Given the description of an element on the screen output the (x, y) to click on. 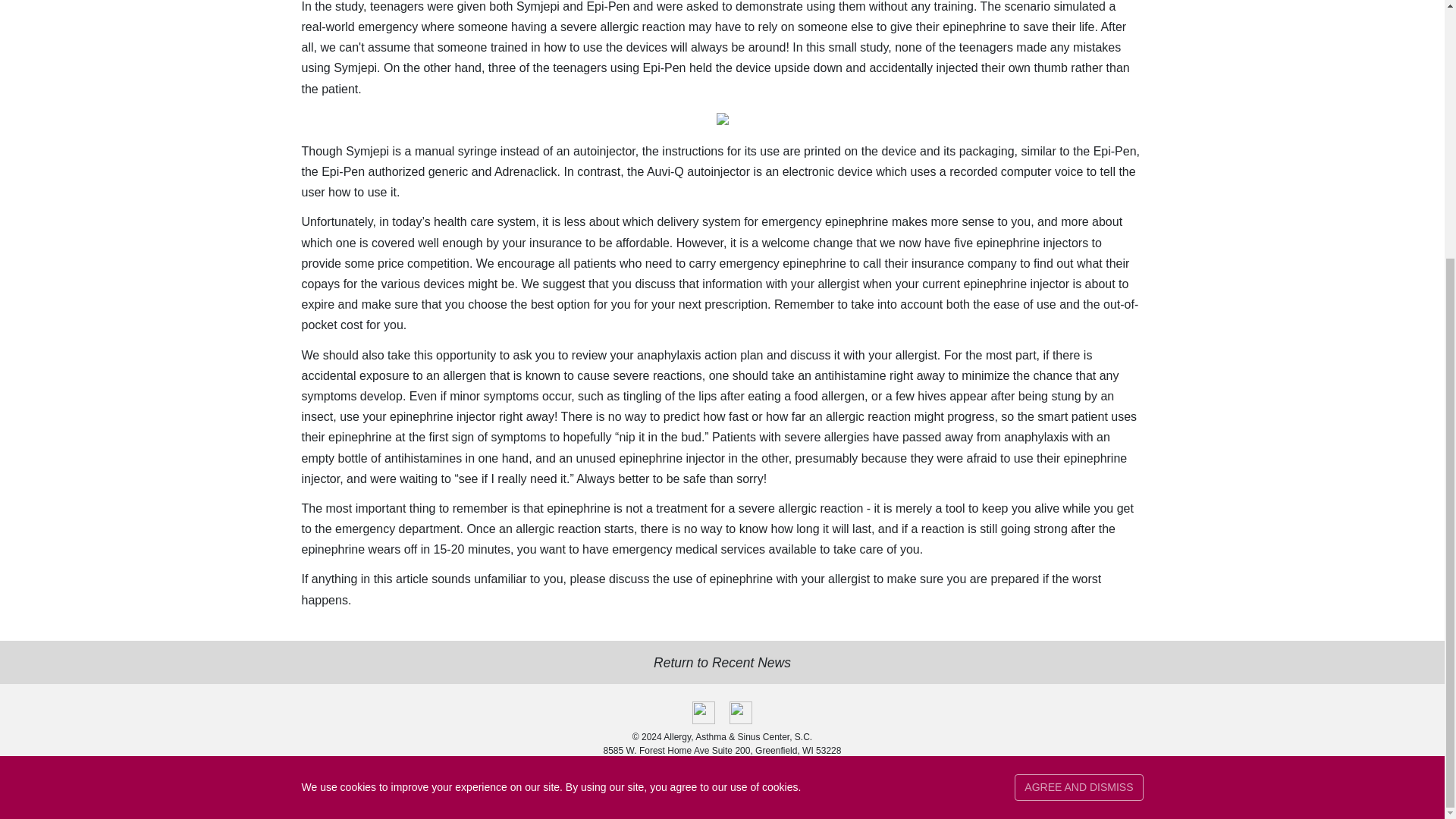
AGREE AND DISMISS (1078, 417)
Click here to contact the webmaster. (802, 800)
Return to Recent News (721, 662)
